Given the description of an element on the screen output the (x, y) to click on. 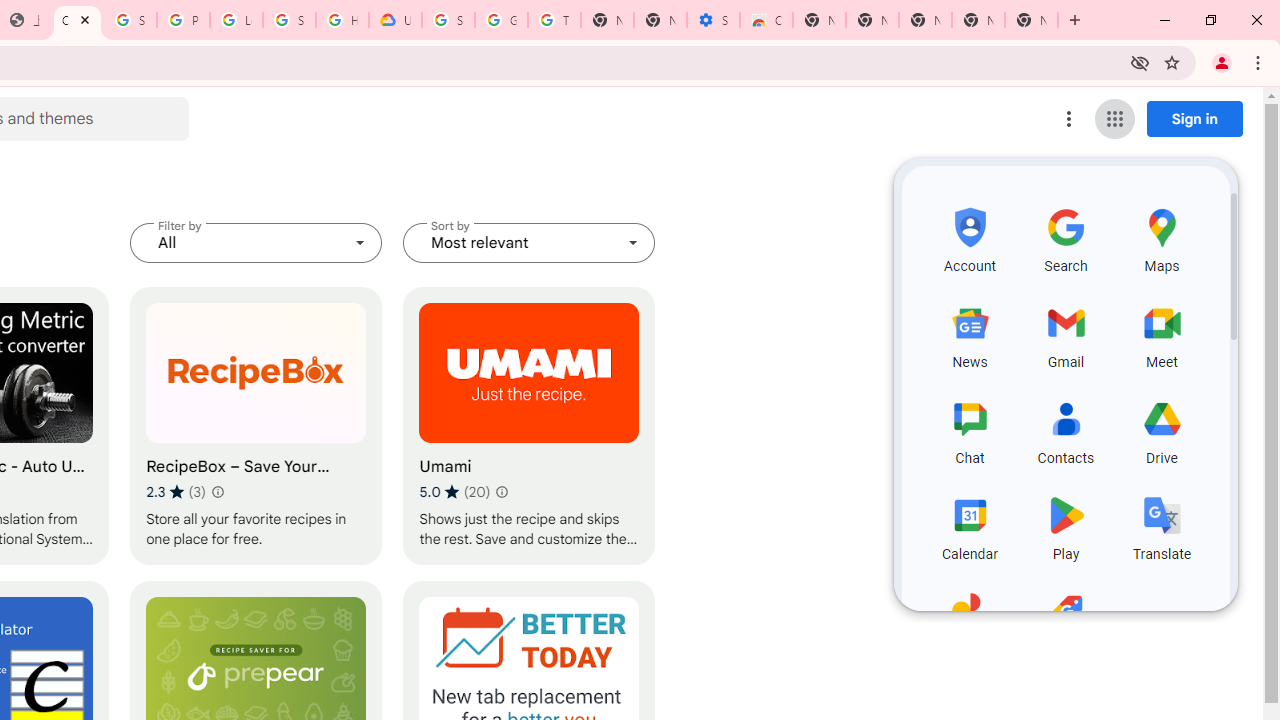
Sign in - Google Accounts (130, 20)
